Given the description of an element on the screen output the (x, y) to click on. 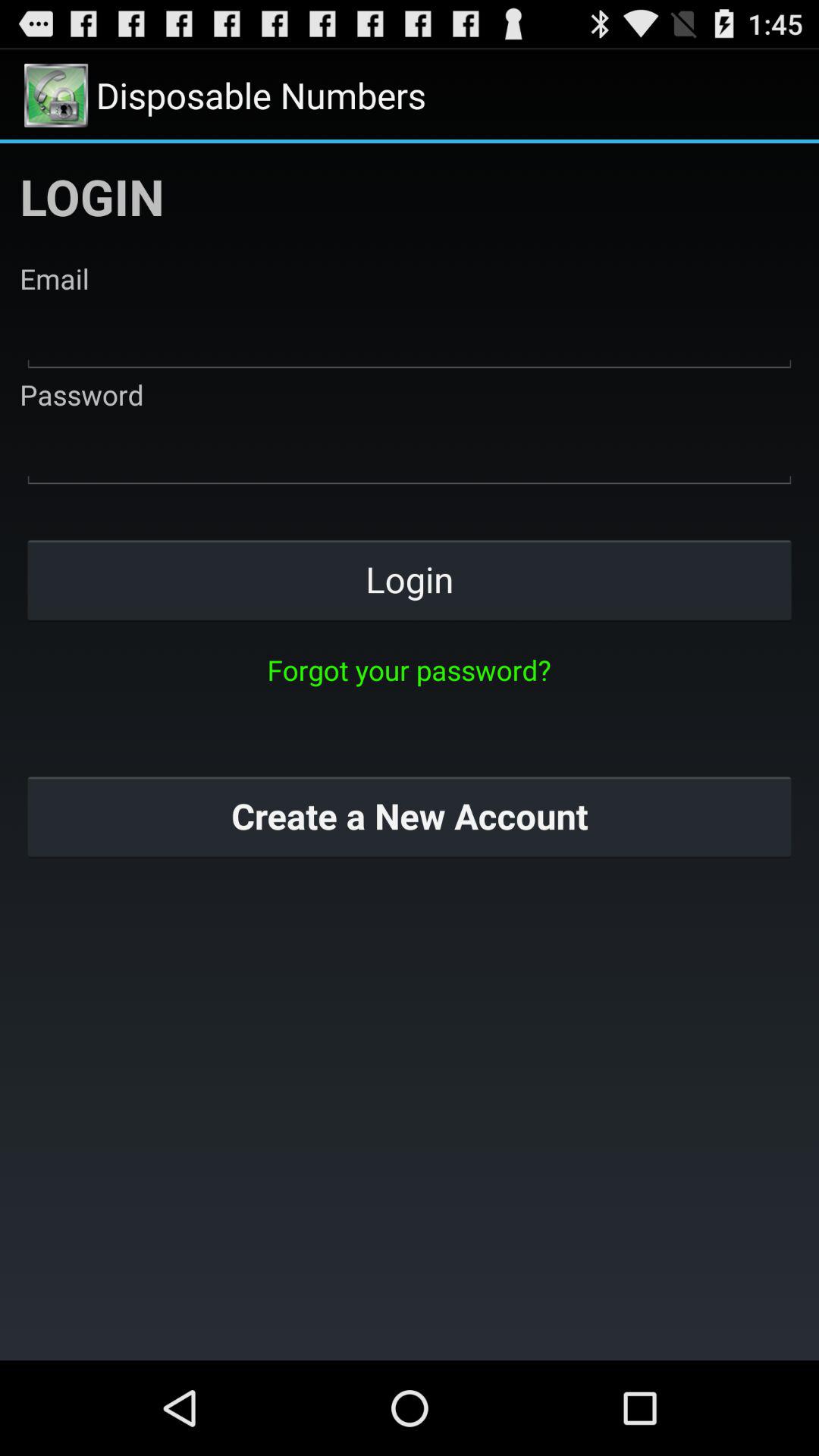
type in email (409, 336)
